Given the description of an element on the screen output the (x, y) to click on. 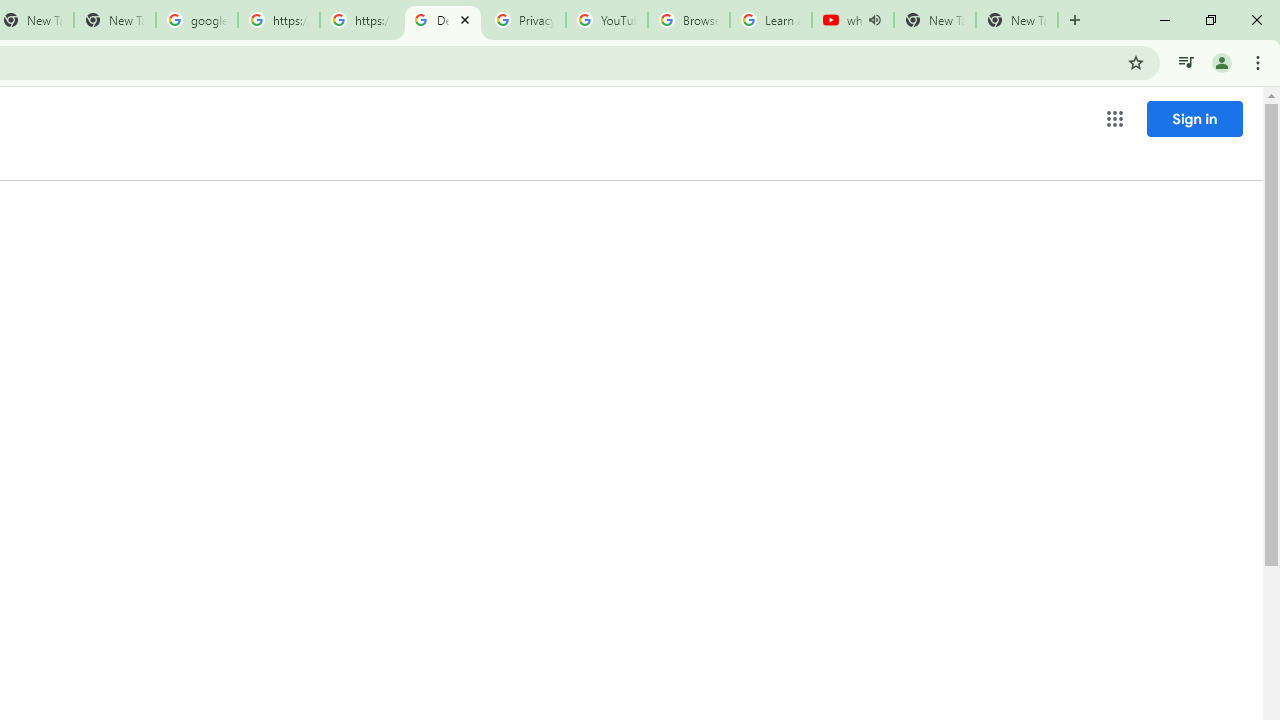
https://scholar.google.com/ (360, 20)
YouTube (606, 20)
https://scholar.google.com/ (278, 20)
